Given the description of an element on the screen output the (x, y) to click on. 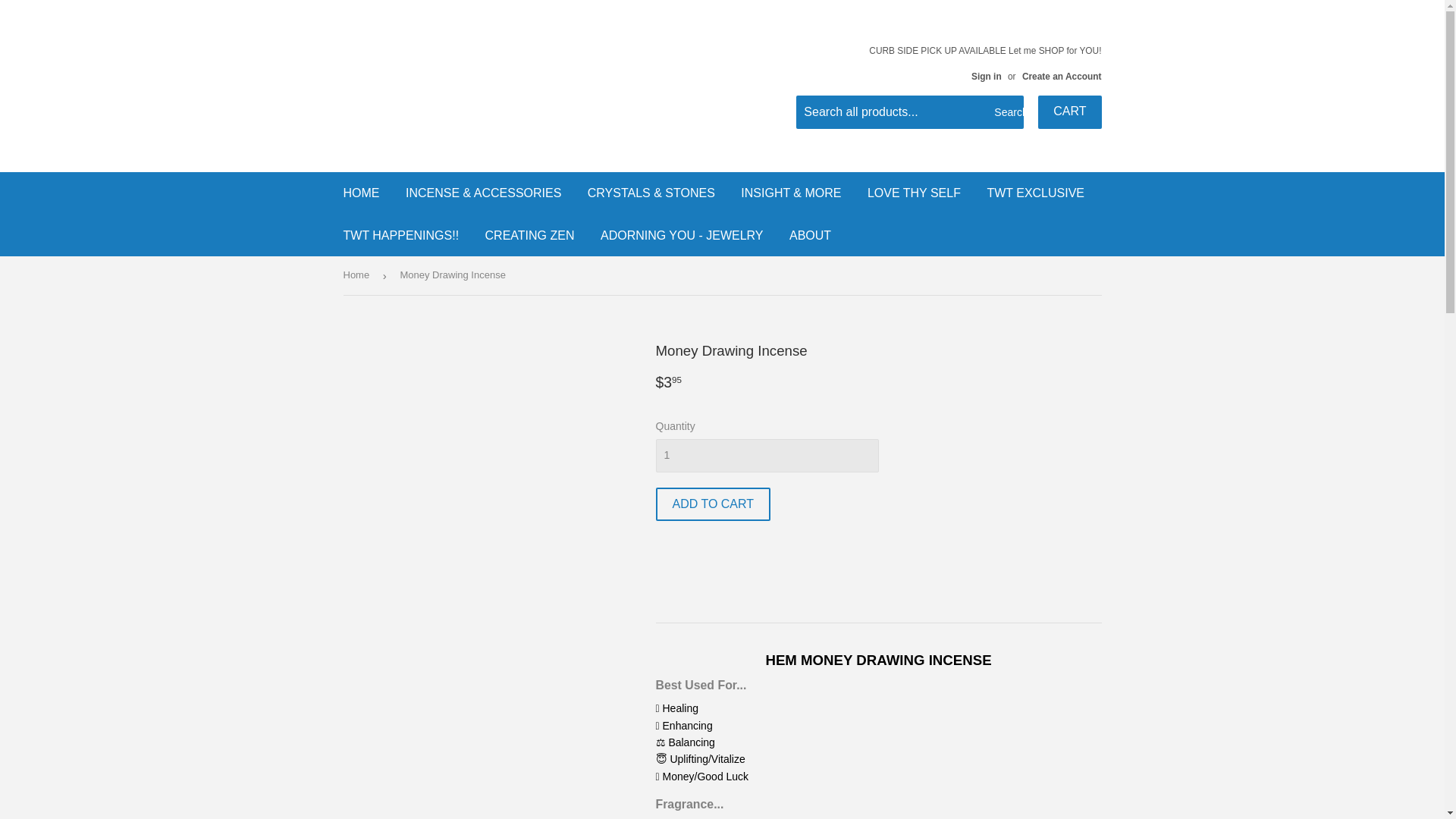
HOME (361, 192)
Search (1006, 112)
1 (766, 455)
Sign in (986, 76)
Create an Account (1062, 76)
CART (1069, 111)
Back to the frontpage (358, 275)
